Given the description of an element on the screen output the (x, y) to click on. 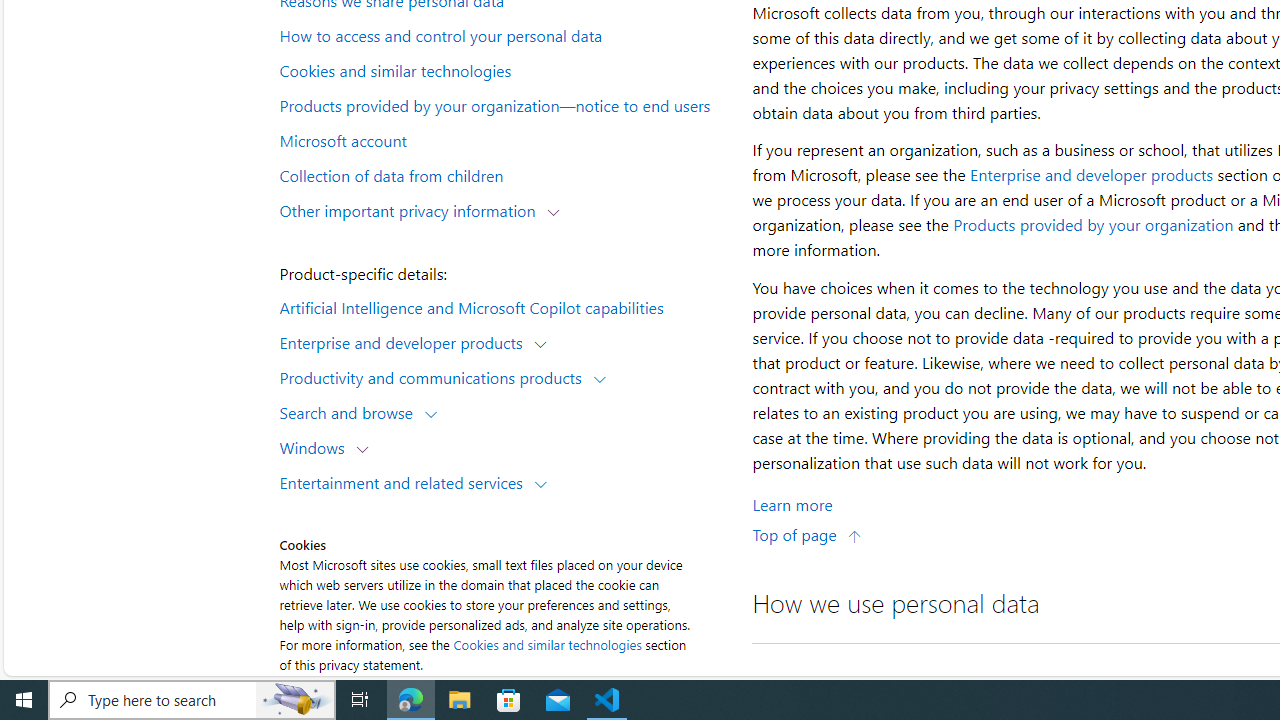
Cookies and similar technologies (547, 644)
Cookies and similar technologies (504, 69)
